Given the description of an element on the screen output the (x, y) to click on. 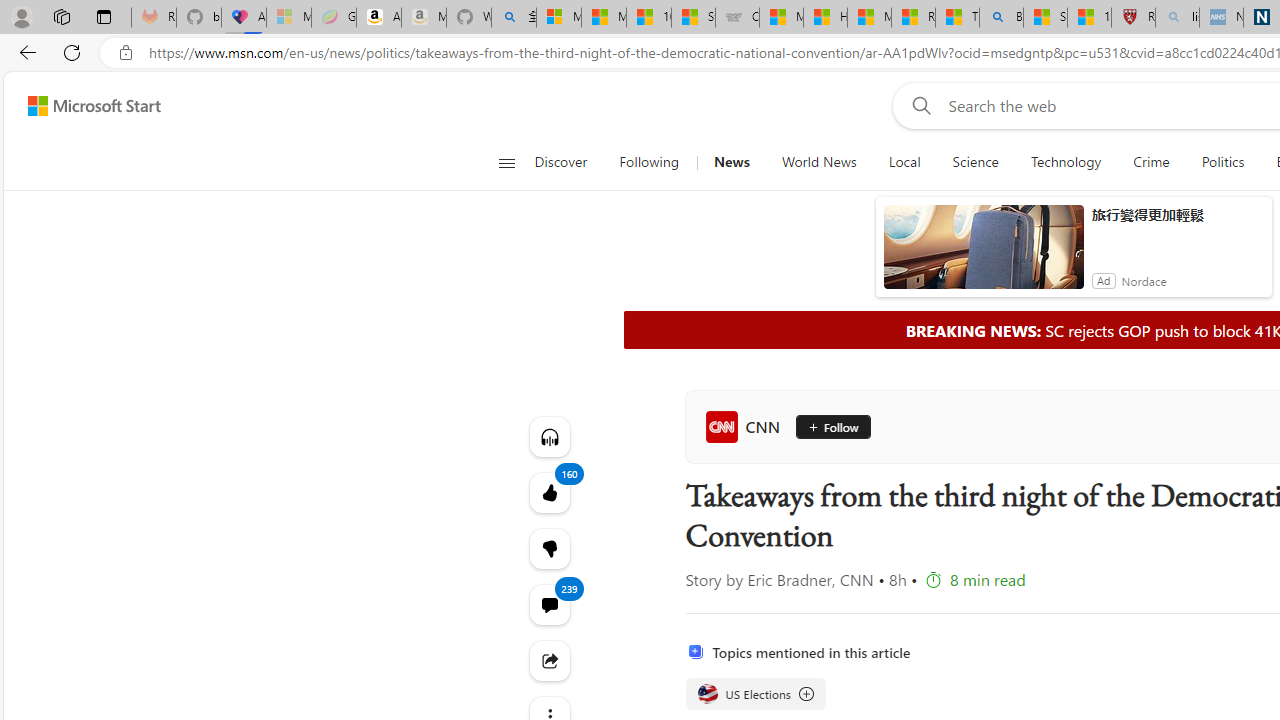
How I Got Rid of Microsoft Edge's Unnecessary Features (825, 17)
Follow (832, 426)
US Elections (707, 694)
Open navigation menu (506, 162)
Skip to content (86, 105)
160 Like (548, 492)
Skip to footer (82, 105)
World News (818, 162)
